Given the description of an element on the screen output the (x, y) to click on. 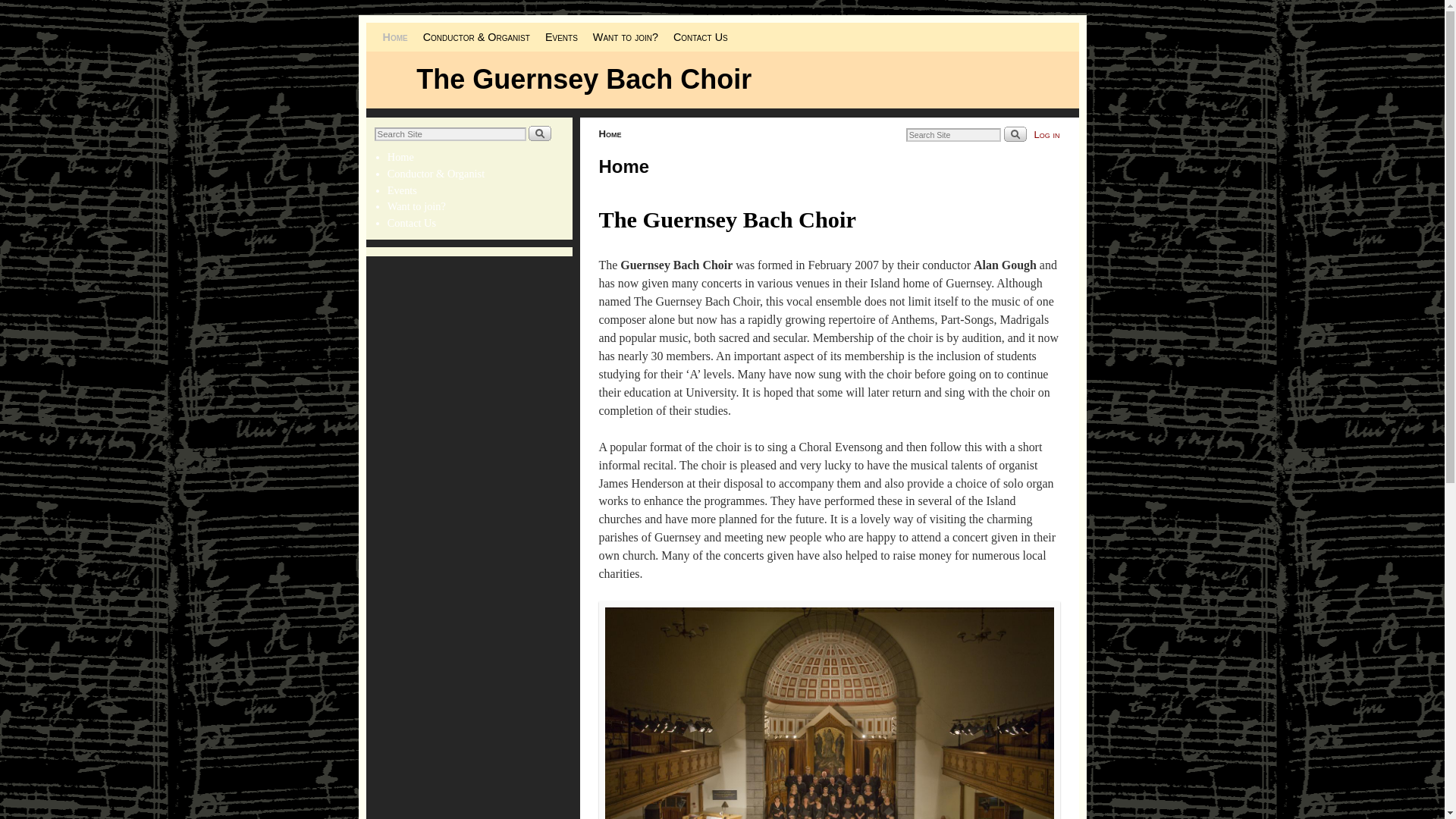
Log in (1046, 134)
Events (401, 190)
Contact Us (700, 36)
Home (394, 36)
The Guernsey Bach Choir (583, 79)
Events (561, 36)
Want to join? (625, 36)
Skip to primary content (408, 29)
Contact Us (411, 223)
Home (400, 156)
